Given the description of an element on the screen output the (x, y) to click on. 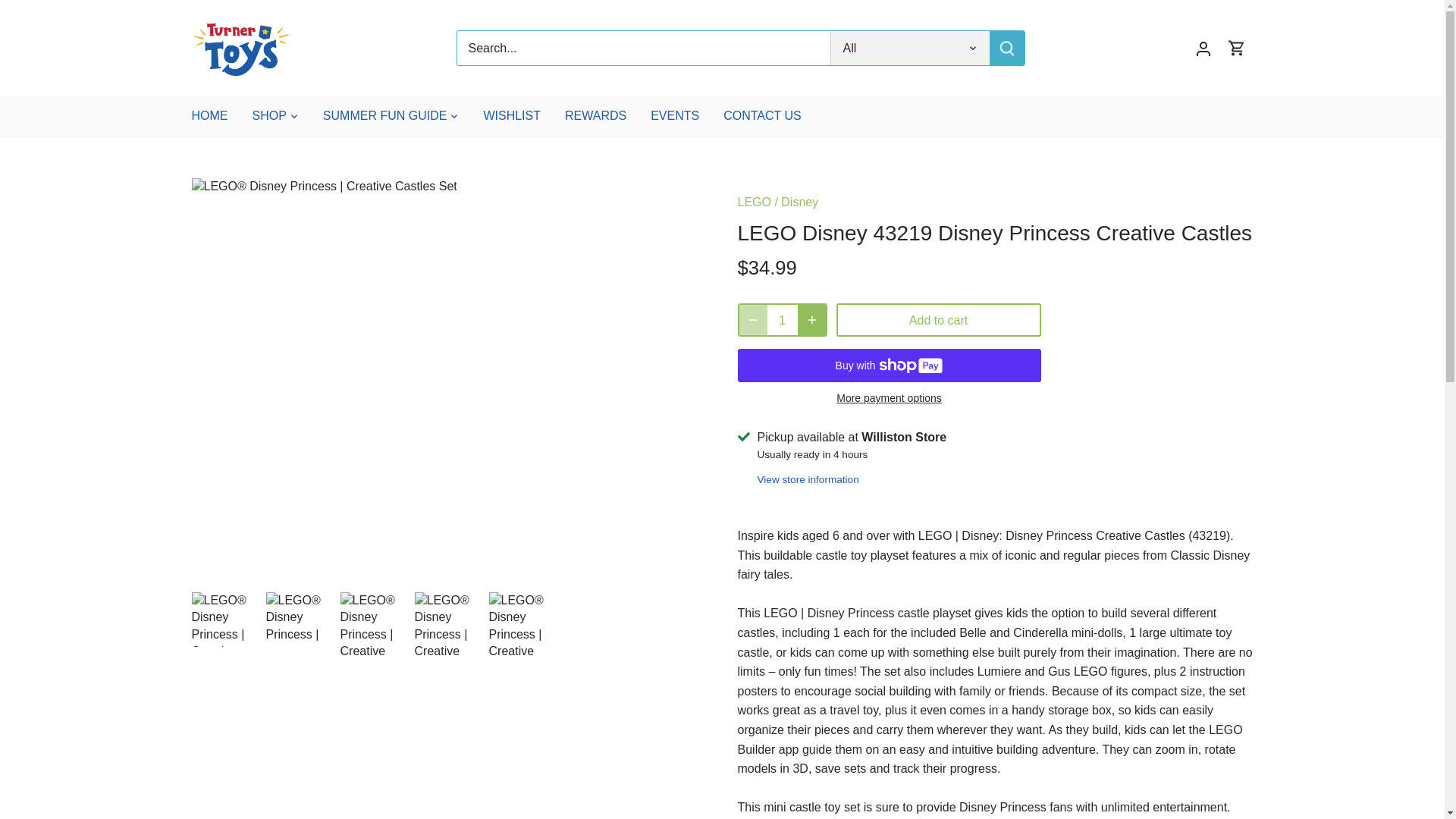
1 (782, 319)
SHOP (269, 115)
HOME (215, 115)
